Given the description of an element on the screen output the (x, y) to click on. 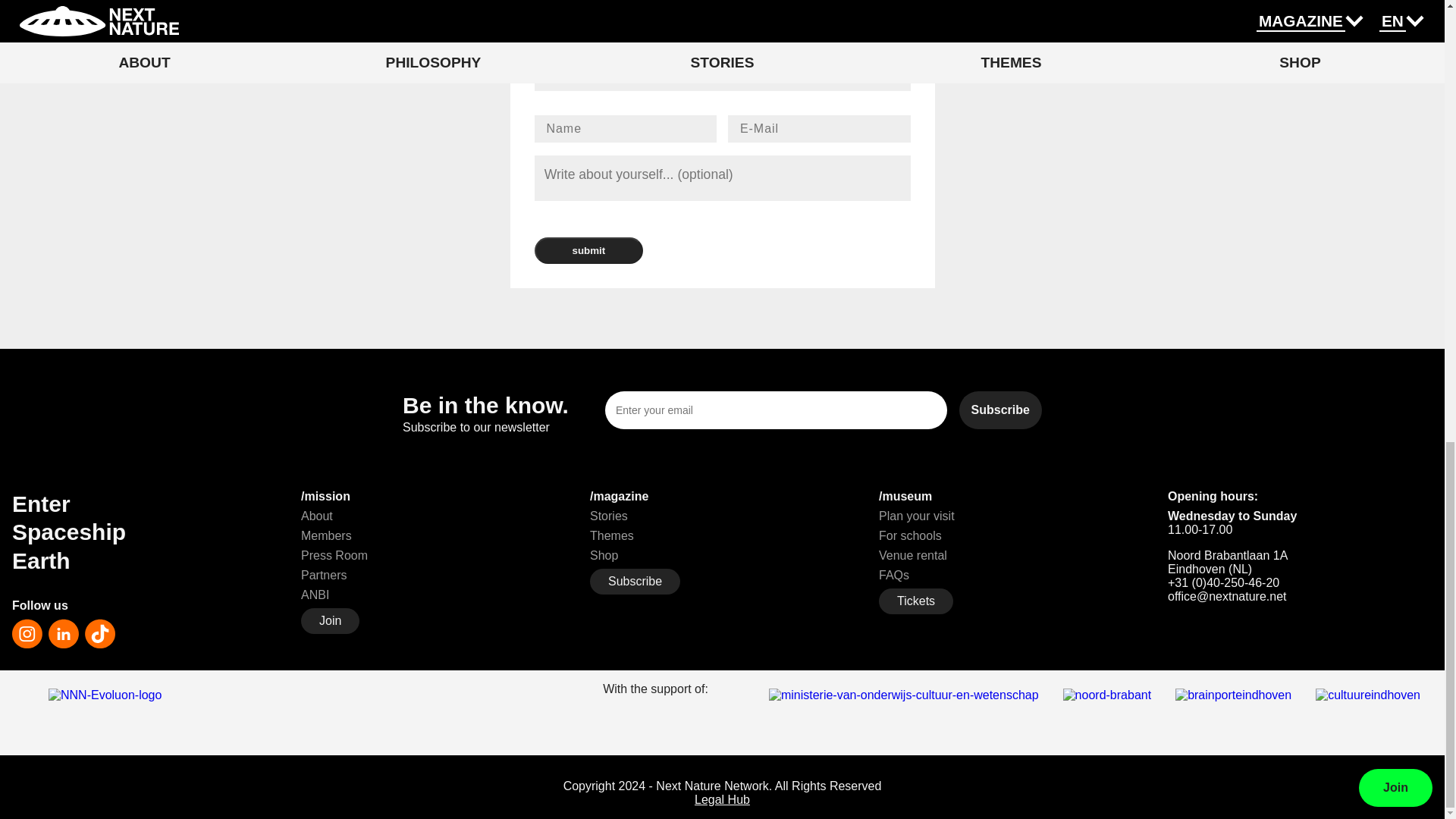
Subscribe (1000, 410)
Press Room (334, 554)
Members (326, 535)
submit (588, 250)
About (317, 515)
ANBI (315, 594)
Partners (323, 574)
